Given the description of an element on the screen output the (x, y) to click on. 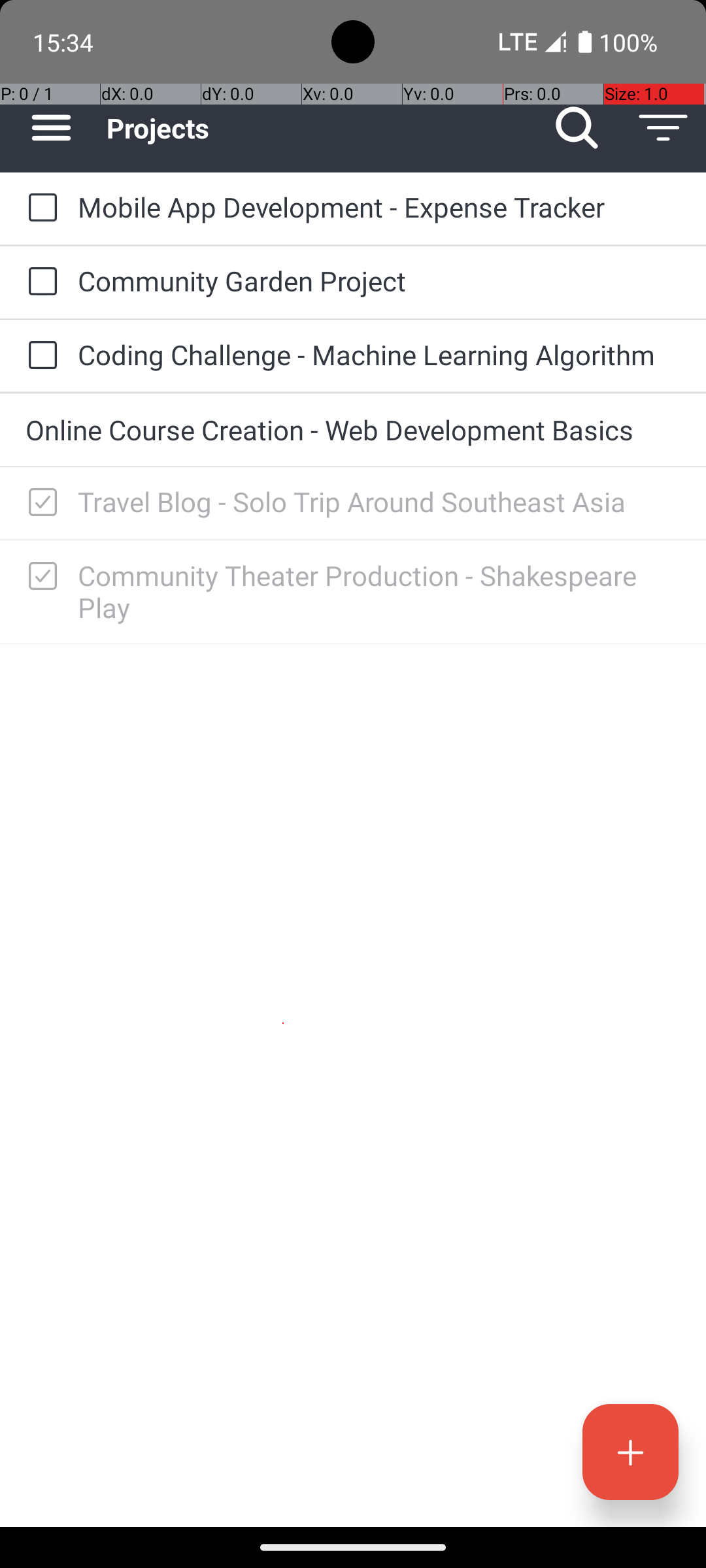
to-do: Mobile App Development - Expense Tracker Element type: android.widget.CheckBox (38, 208)
Mobile App Development - Expense Tracker Element type: android.widget.TextView (378, 206)
to-do: Community Garden Project Element type: android.widget.CheckBox (38, 282)
Community Garden Project Element type: android.widget.TextView (378, 280)
to-do: Coding Challenge - Machine Learning Algorithm Element type: android.widget.CheckBox (38, 356)
Online Course Creation - Web Development Basics Element type: android.widget.TextView (352, 429)
to-do: Travel Blog - Solo Trip Around Southeast Asia Element type: android.widget.CheckBox (38, 503)
Travel Blog - Solo Trip Around Southeast Asia Element type: android.widget.TextView (378, 501)
to-do: Community Theater Production - Shakespeare Play Element type: android.widget.CheckBox (38, 576)
Community Theater Production - Shakespeare Play Element type: android.widget.TextView (378, 590)
